Given the description of an element on the screen output the (x, y) to click on. 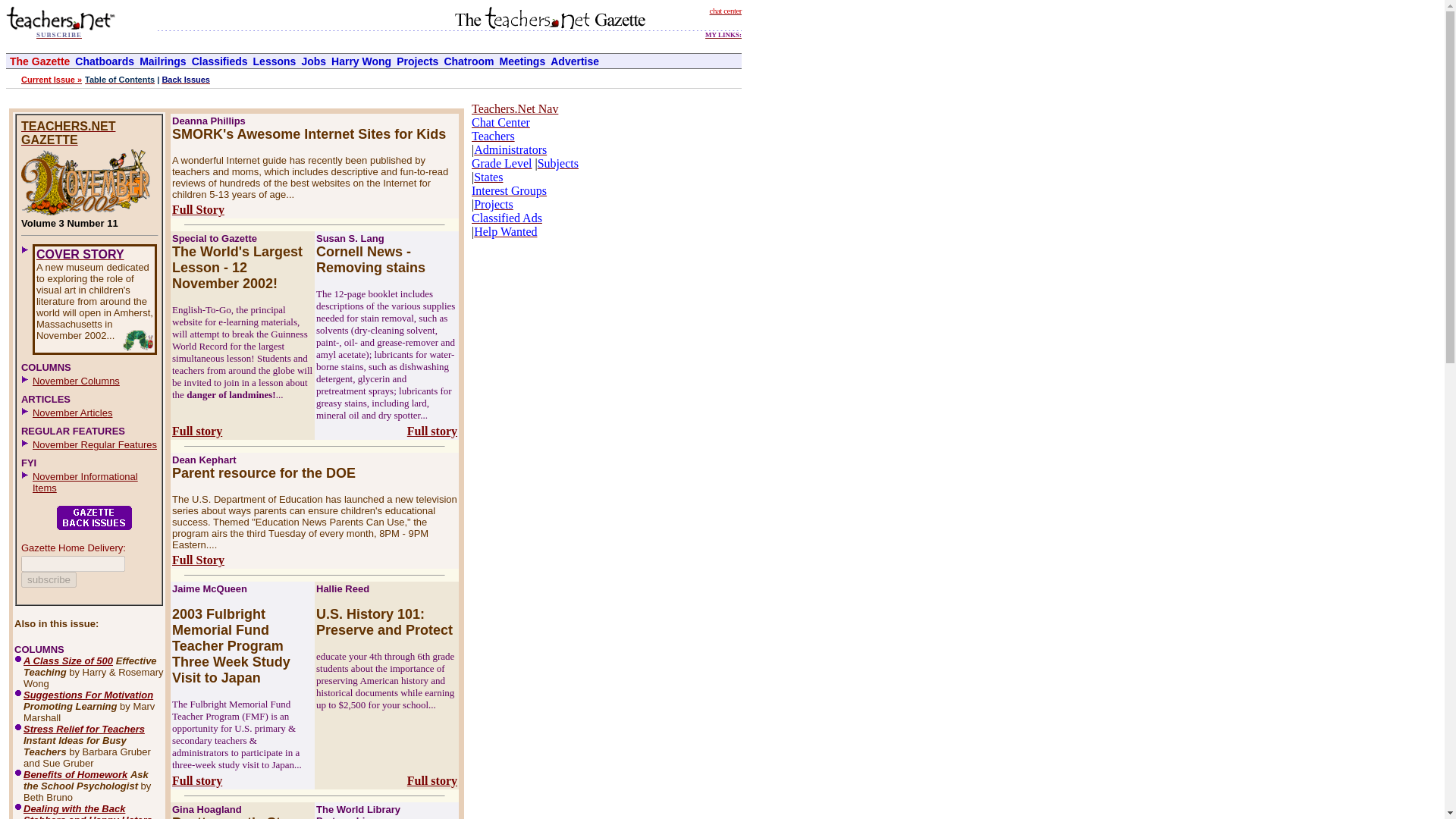
Chatboards (104, 61)
SUBSCRIBE (58, 33)
Classifieds (219, 61)
Mailrings (161, 61)
Lessons (274, 61)
MY LINKS: (722, 32)
subscribe (49, 579)
The Gazette (39, 61)
chat center (725, 9)
